Given the description of an element on the screen output the (x, y) to click on. 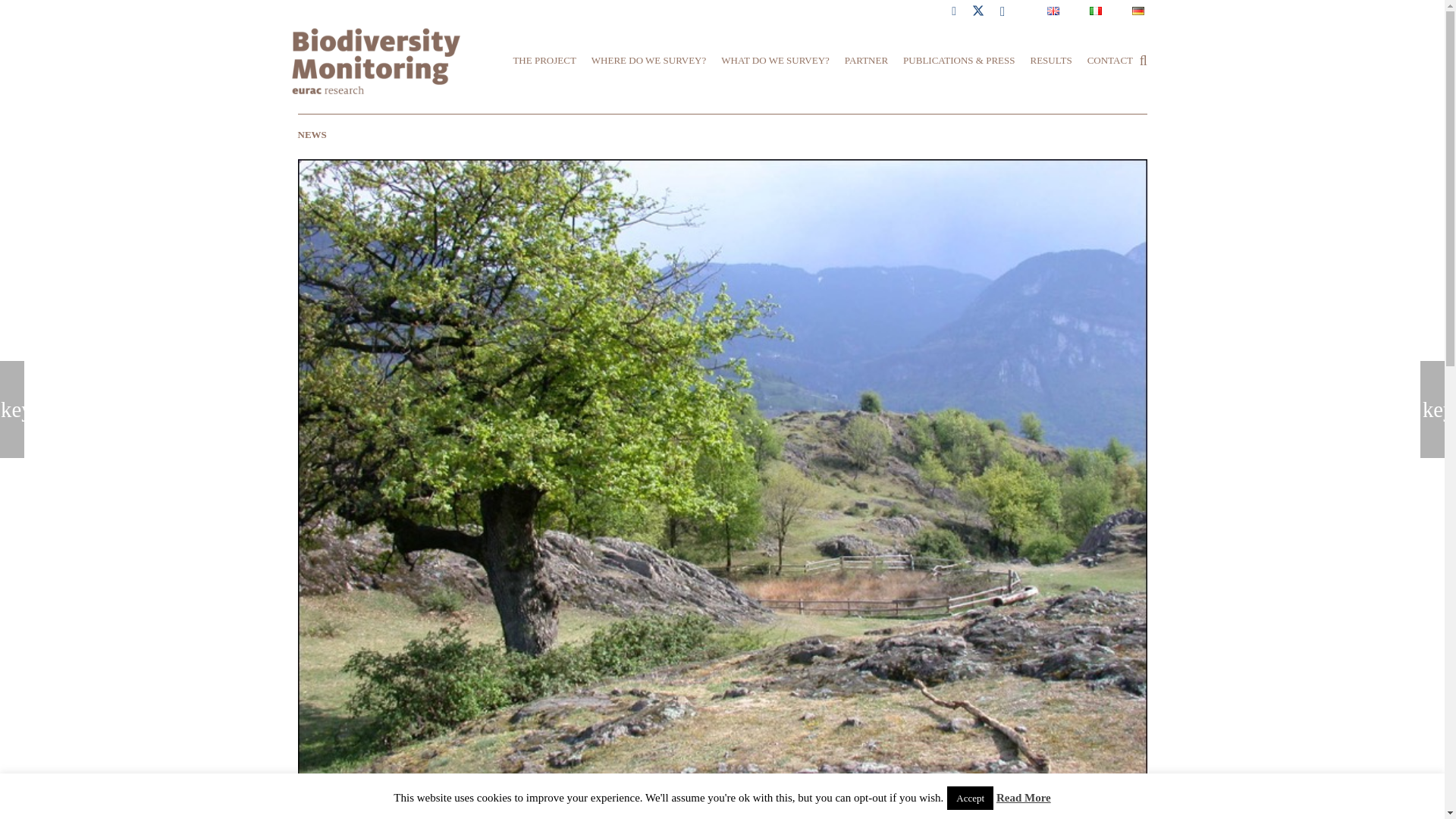
WHAT DO WE SURVEY? (775, 60)
THE PROJECT (544, 60)
WHERE DO WE SURVEY? (648, 60)
Instagram (1002, 11)
PARTNER (866, 60)
Twitter (978, 11)
RESULTS (1050, 60)
CONTACT (1110, 60)
Facebook (954, 11)
